Given the description of an element on the screen output the (x, y) to click on. 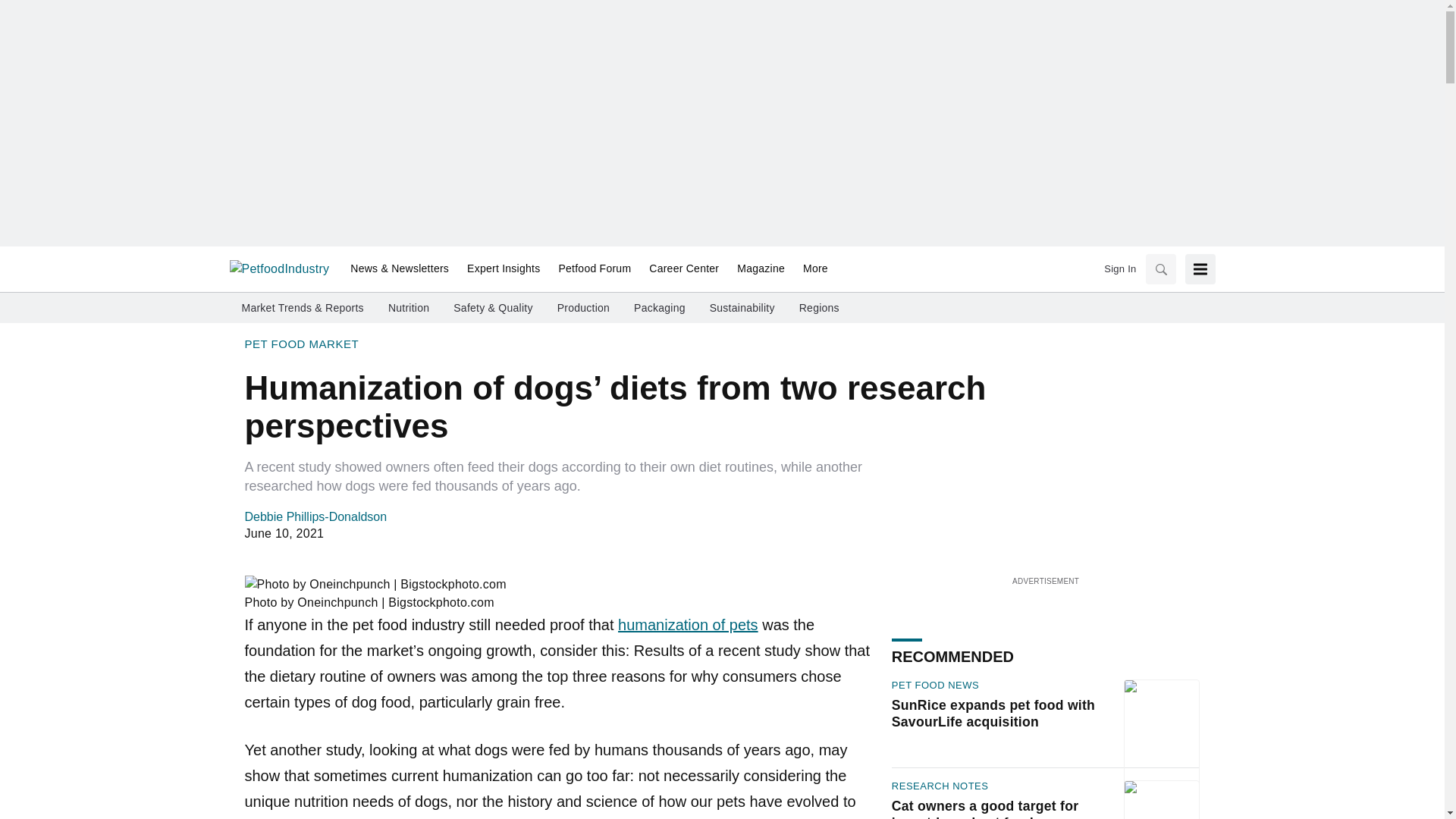
Petfood Forum (594, 269)
Magazine (760, 269)
Pet Food Market (301, 343)
Sustainability (742, 307)
Nutrition (408, 307)
Career Center (684, 269)
Packaging (659, 307)
Sign In (1119, 268)
More (810, 269)
Expert Insights (503, 269)
Production (583, 307)
Regions (819, 307)
